Given the description of an element on the screen output the (x, y) to click on. 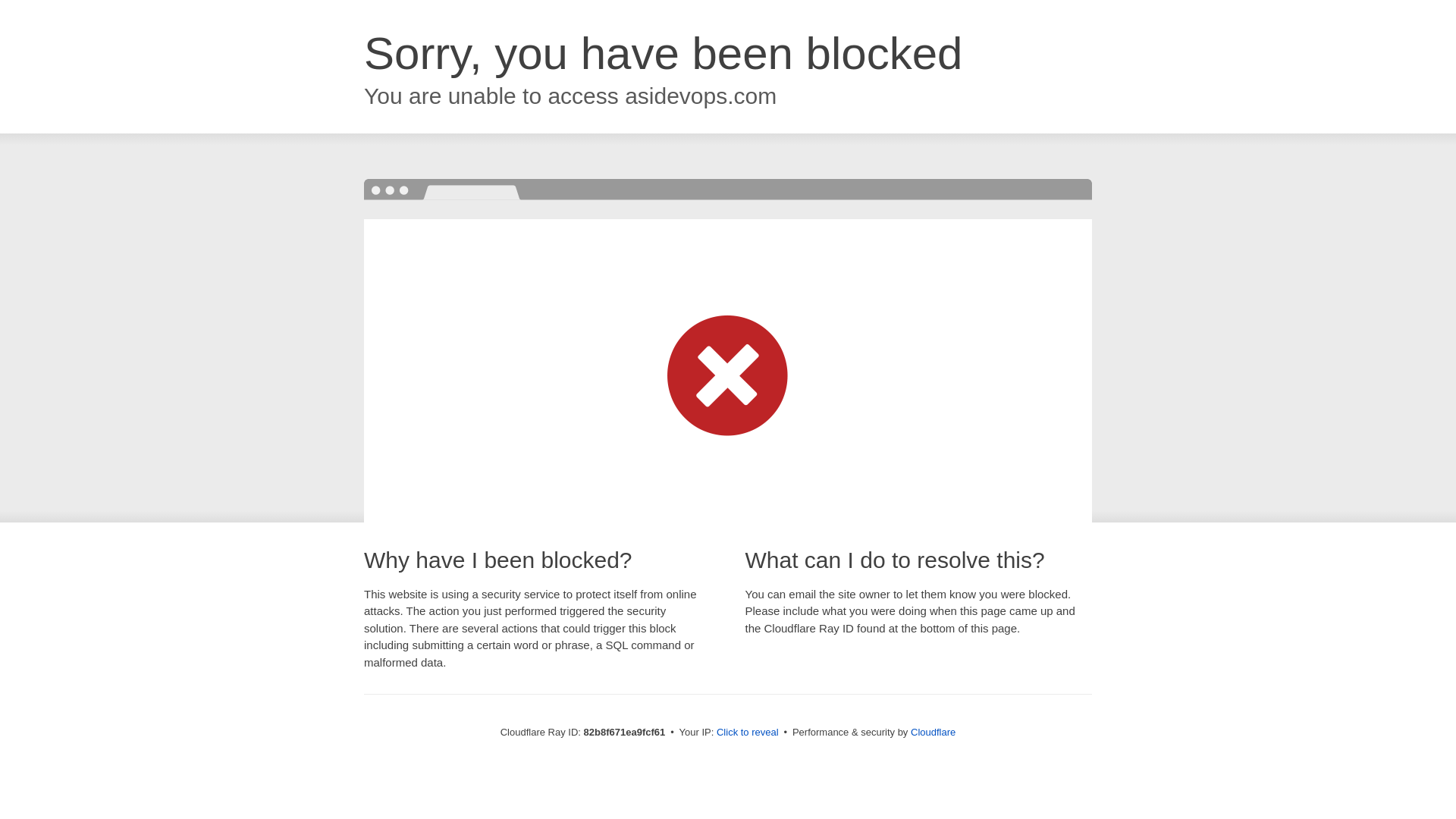
Cloudflare Element type: text (932, 731)
Click to reveal Element type: text (747, 732)
